Given the description of an element on the screen output the (x, y) to click on. 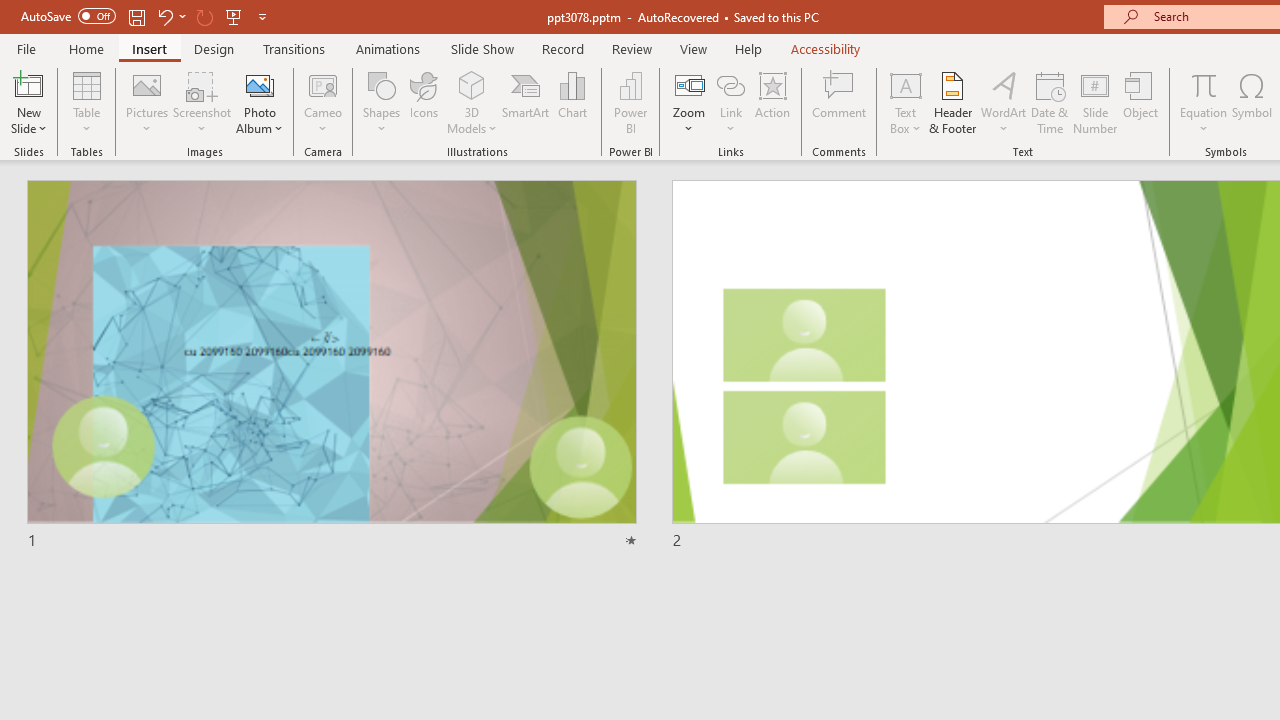
Link (731, 84)
Power BI (630, 102)
Action (772, 102)
New Photo Album... (259, 84)
Header & Footer... (952, 102)
